Given the description of an element on the screen output the (x, y) to click on. 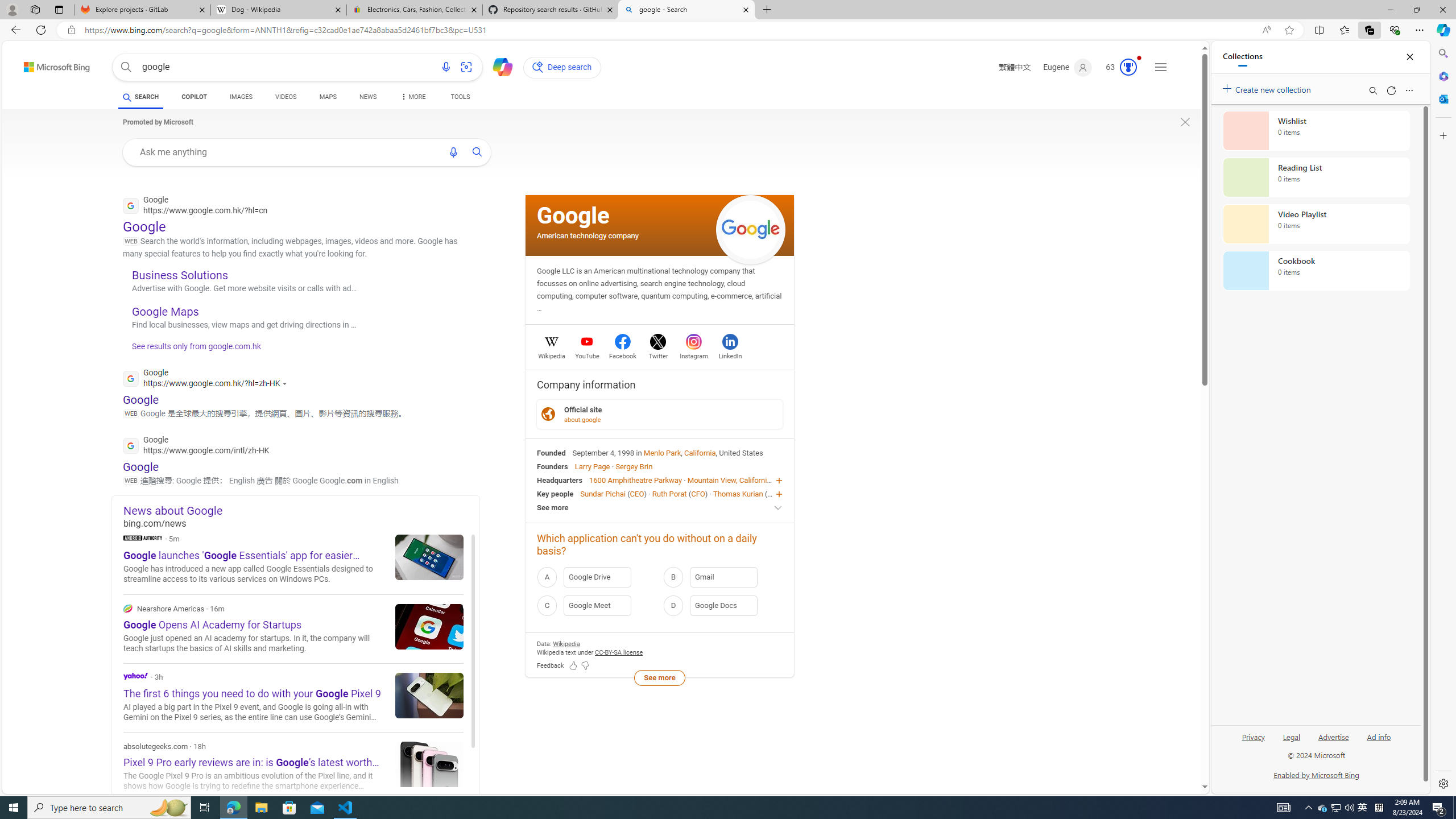
Ad info (1378, 741)
Advertise (1333, 741)
TOOLS (460, 98)
NEWS (367, 98)
Search more (1179, 753)
Official siteabout.google (660, 414)
App bar (728, 29)
Back to Bing search (50, 64)
Google (573, 215)
Nearshore Americas (293, 628)
